Given the description of an element on the screen output the (x, y) to click on. 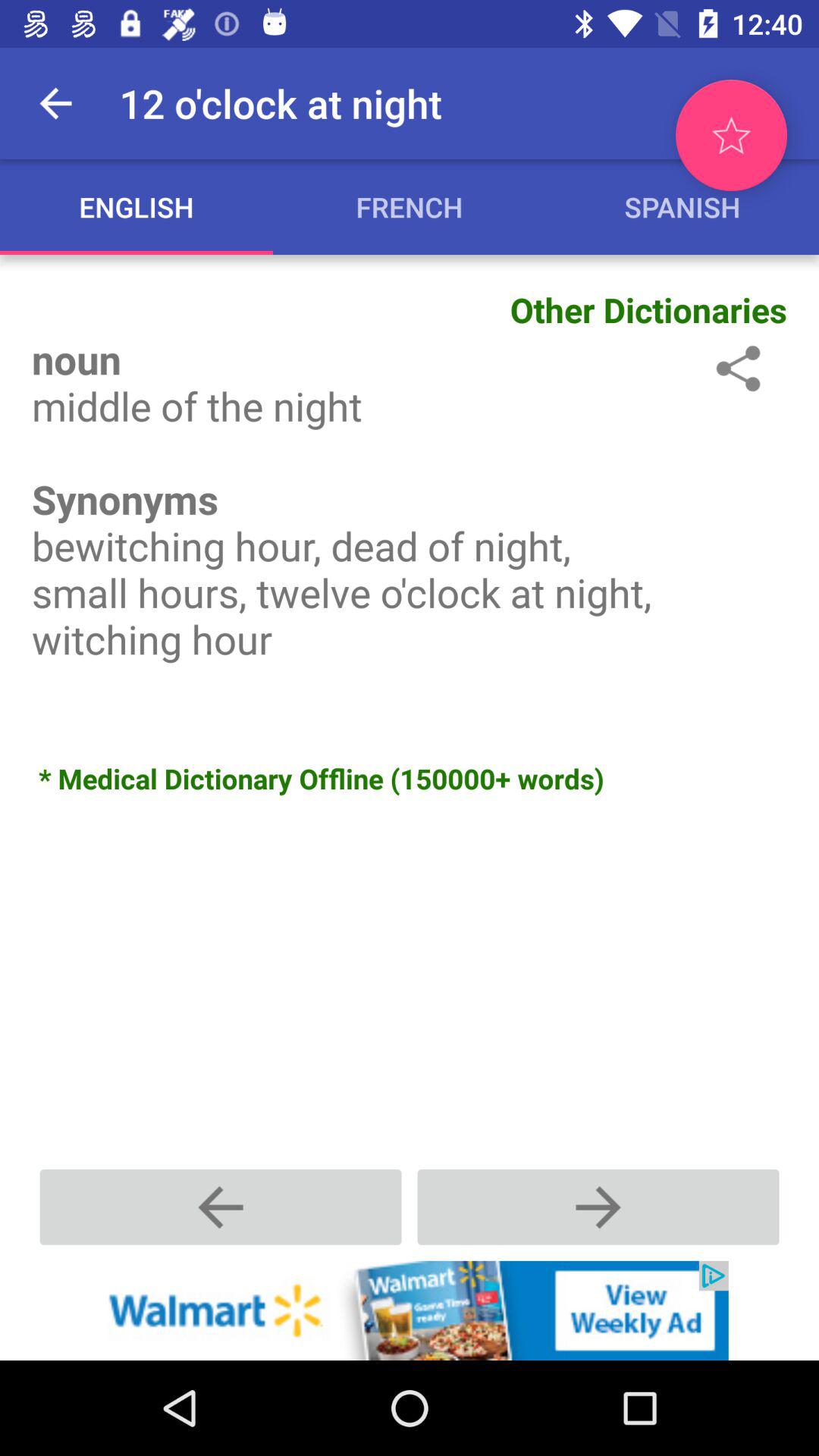
open settings/options (735, 368)
